Given the description of an element on the screen output the (x, y) to click on. 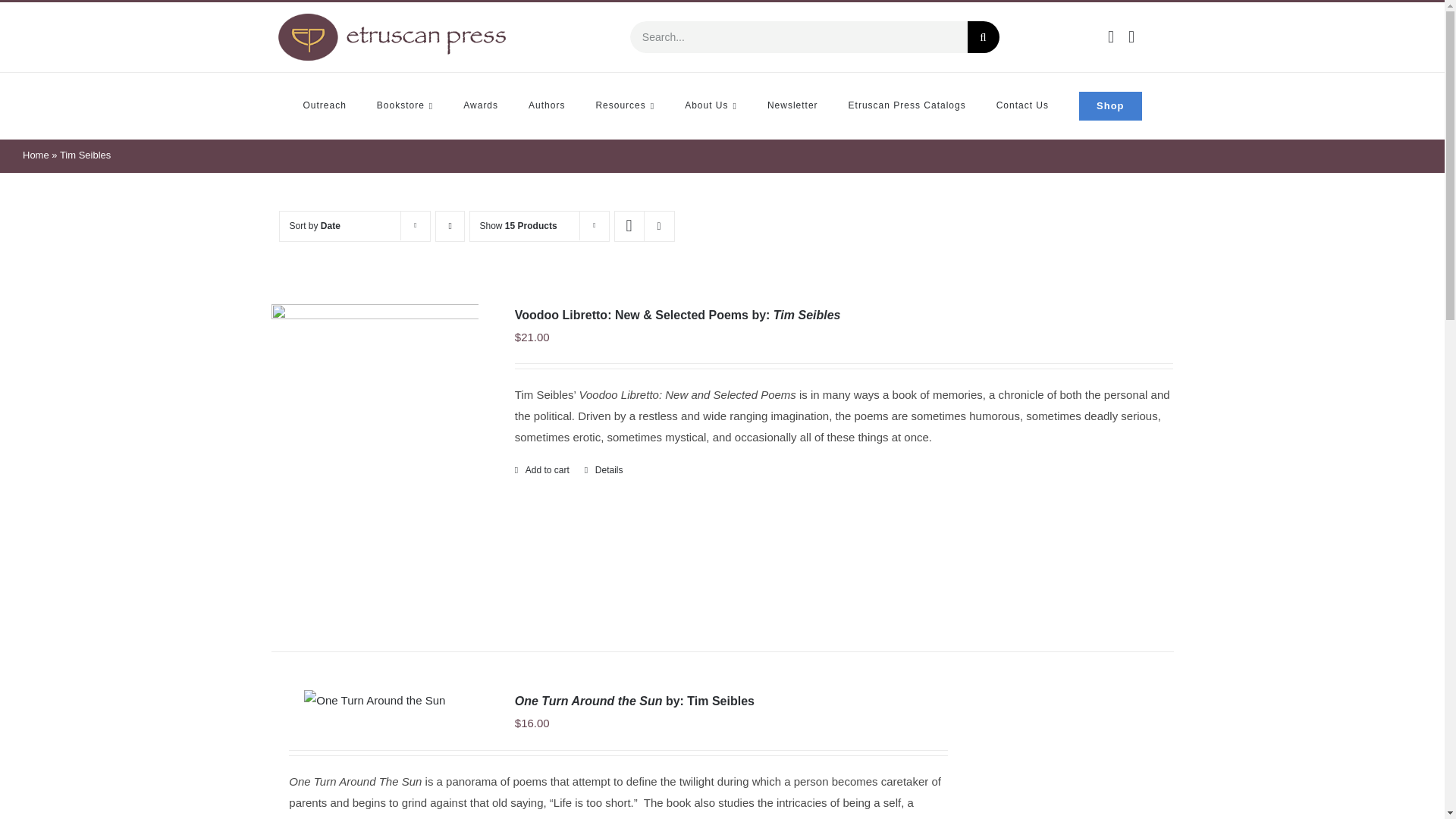
Home (36, 154)
Log In (1067, 189)
Shop (1109, 105)
Awards (480, 105)
Resources (624, 105)
Authors (546, 105)
Sort by Date (314, 225)
Contact Us (1021, 105)
About Us (710, 105)
Bookstore (404, 105)
Etruscan Press Catalogs (907, 105)
Outreach (324, 105)
Newsletter (792, 105)
